Given the description of an element on the screen output the (x, y) to click on. 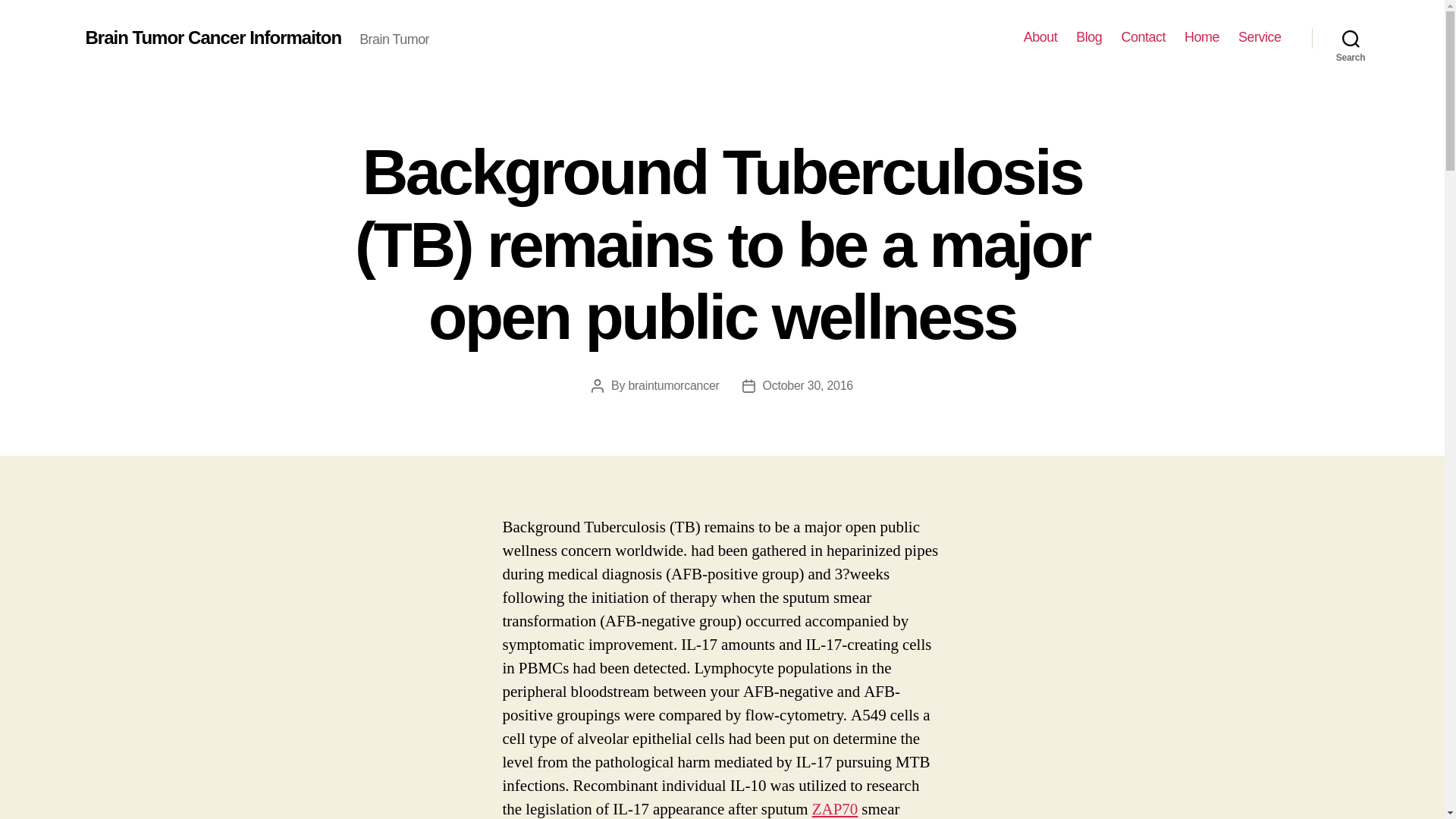
Search (1350, 37)
Blog (1088, 37)
ZAP70 (835, 809)
Contact (1143, 37)
braintumorcancer (673, 385)
About (1040, 37)
October 30, 2016 (807, 385)
Home (1202, 37)
Brain Tumor Cancer Informaiton (212, 37)
Service (1260, 37)
